Given the description of an element on the screen output the (x, y) to click on. 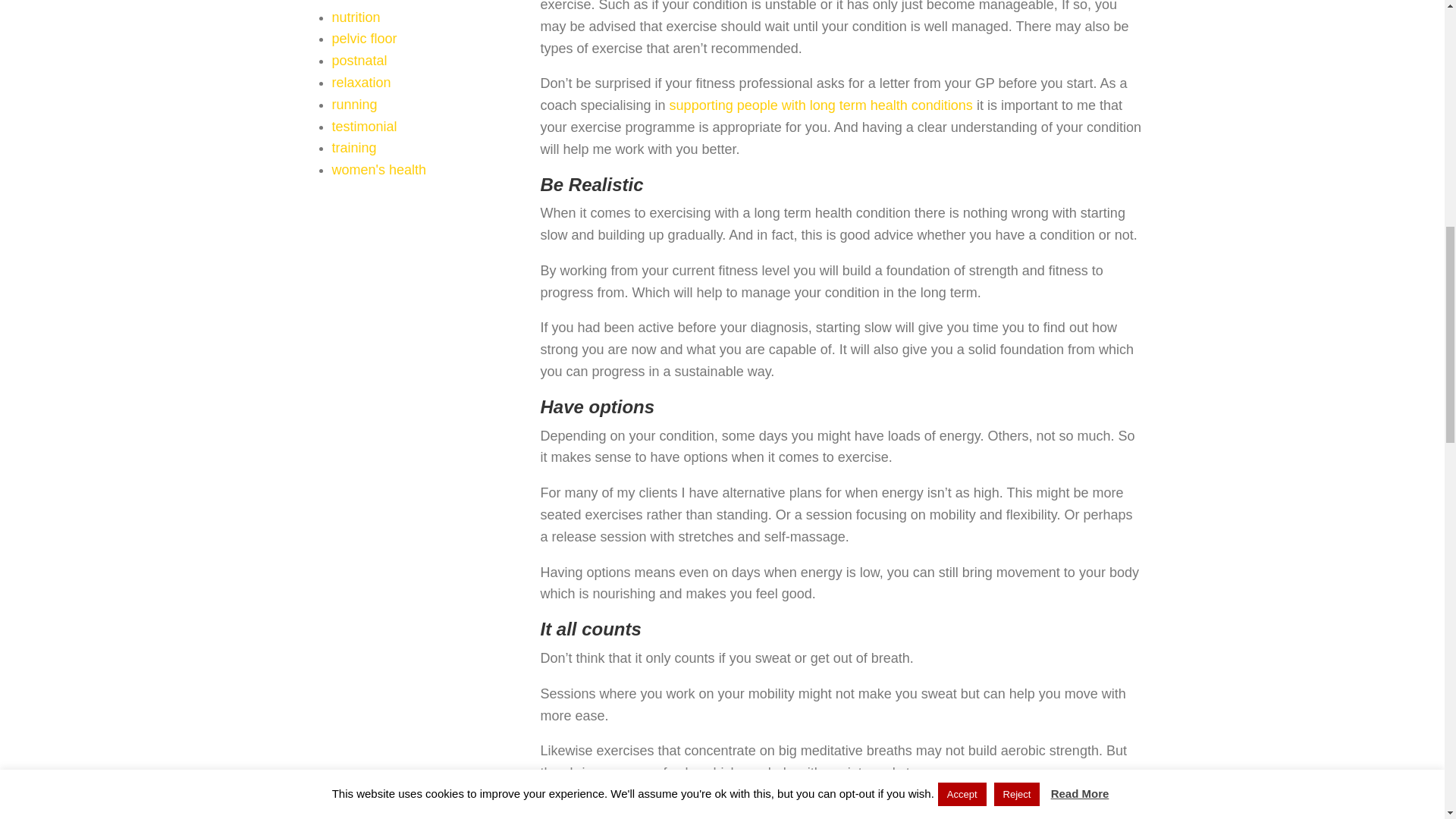
supporting people with long term health conditions (820, 105)
